Given the description of an element on the screen output the (x, y) to click on. 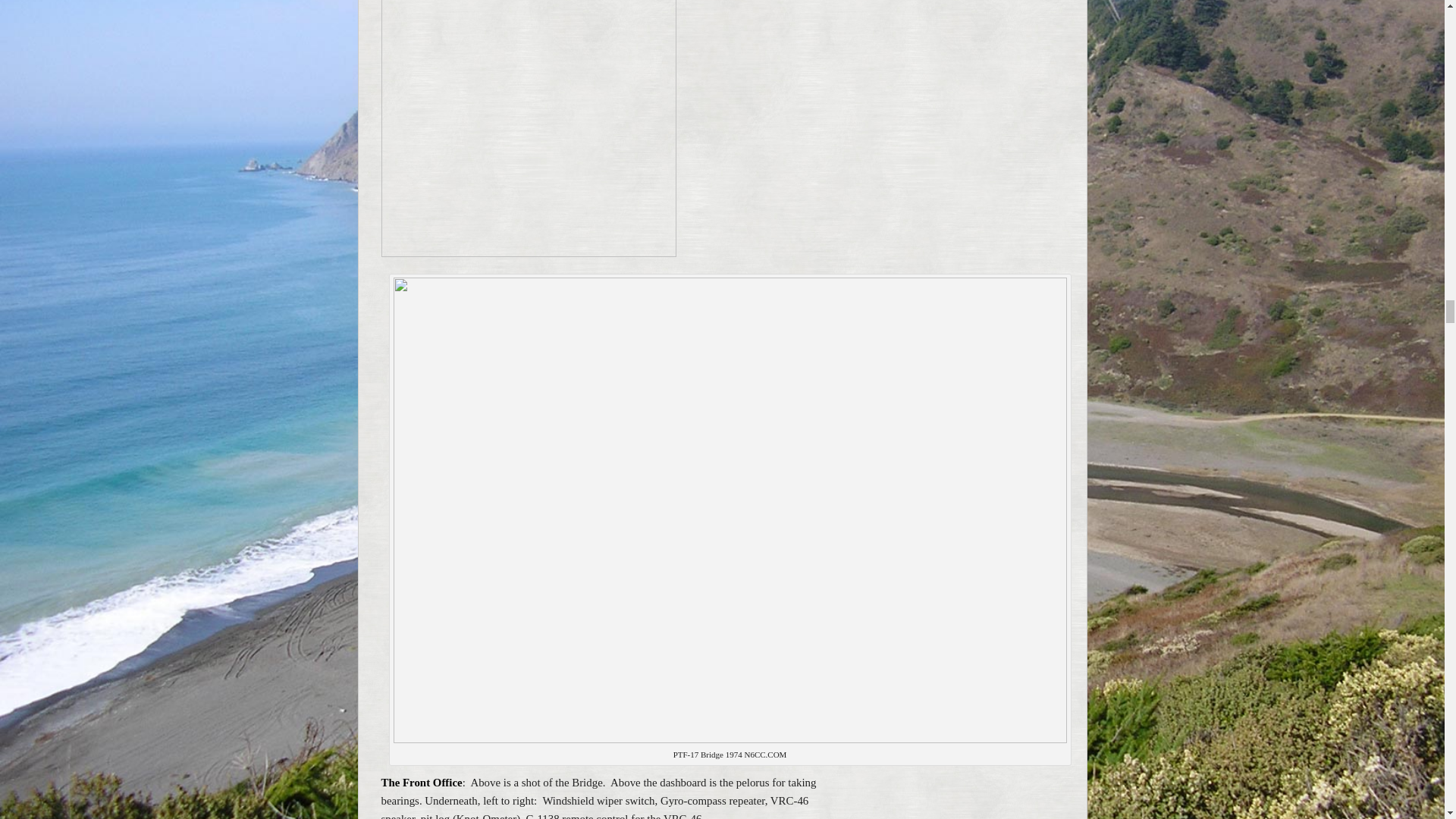
PTF-17 Underway Checkoff List (527, 128)
